Given the description of an element on the screen output the (x, y) to click on. 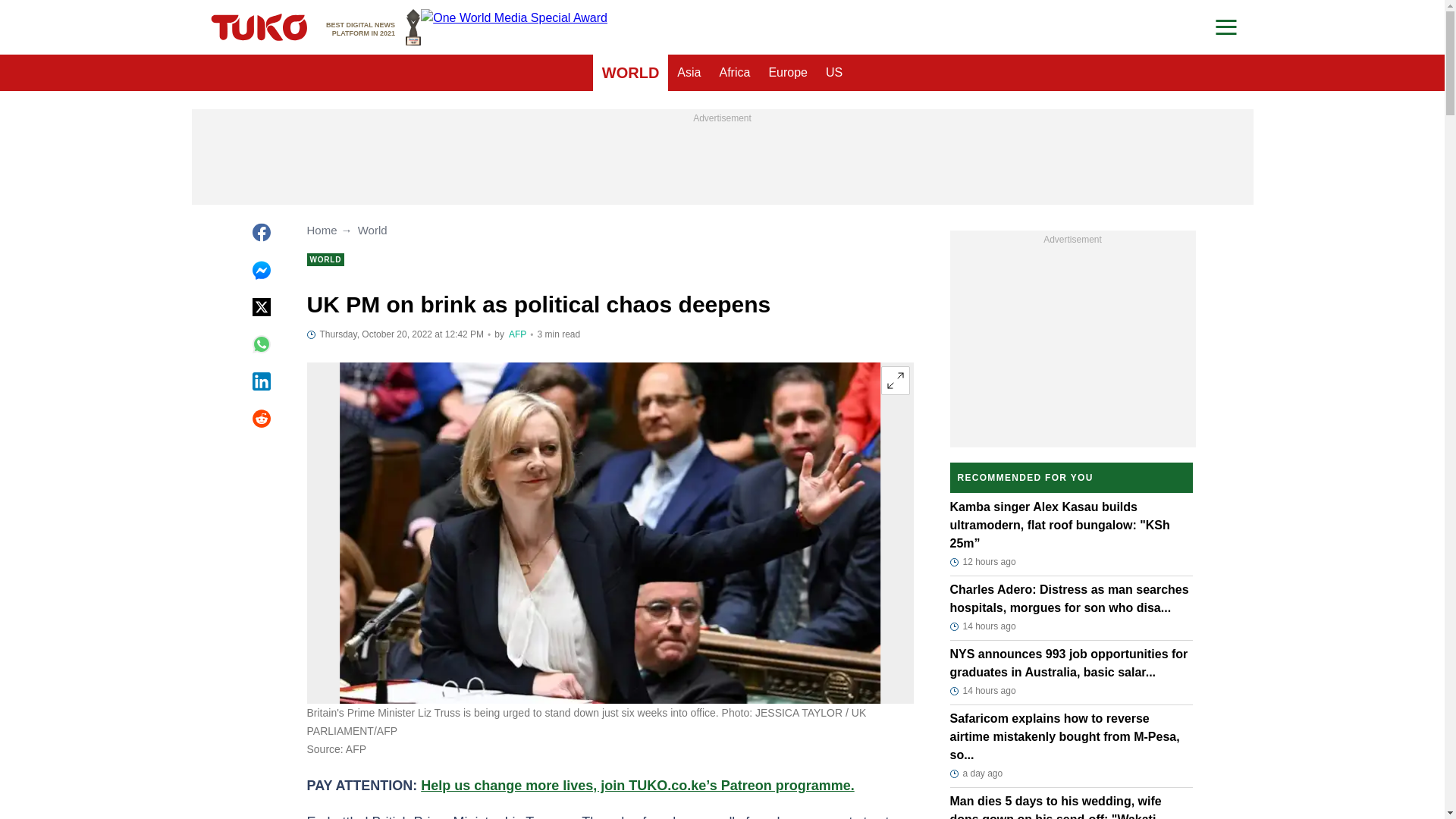
Author page (516, 334)
Expand image (895, 380)
WORLD (373, 27)
US (630, 72)
Asia (833, 72)
Africa (689, 72)
Europe (734, 72)
